Given the description of an element on the screen output the (x, y) to click on. 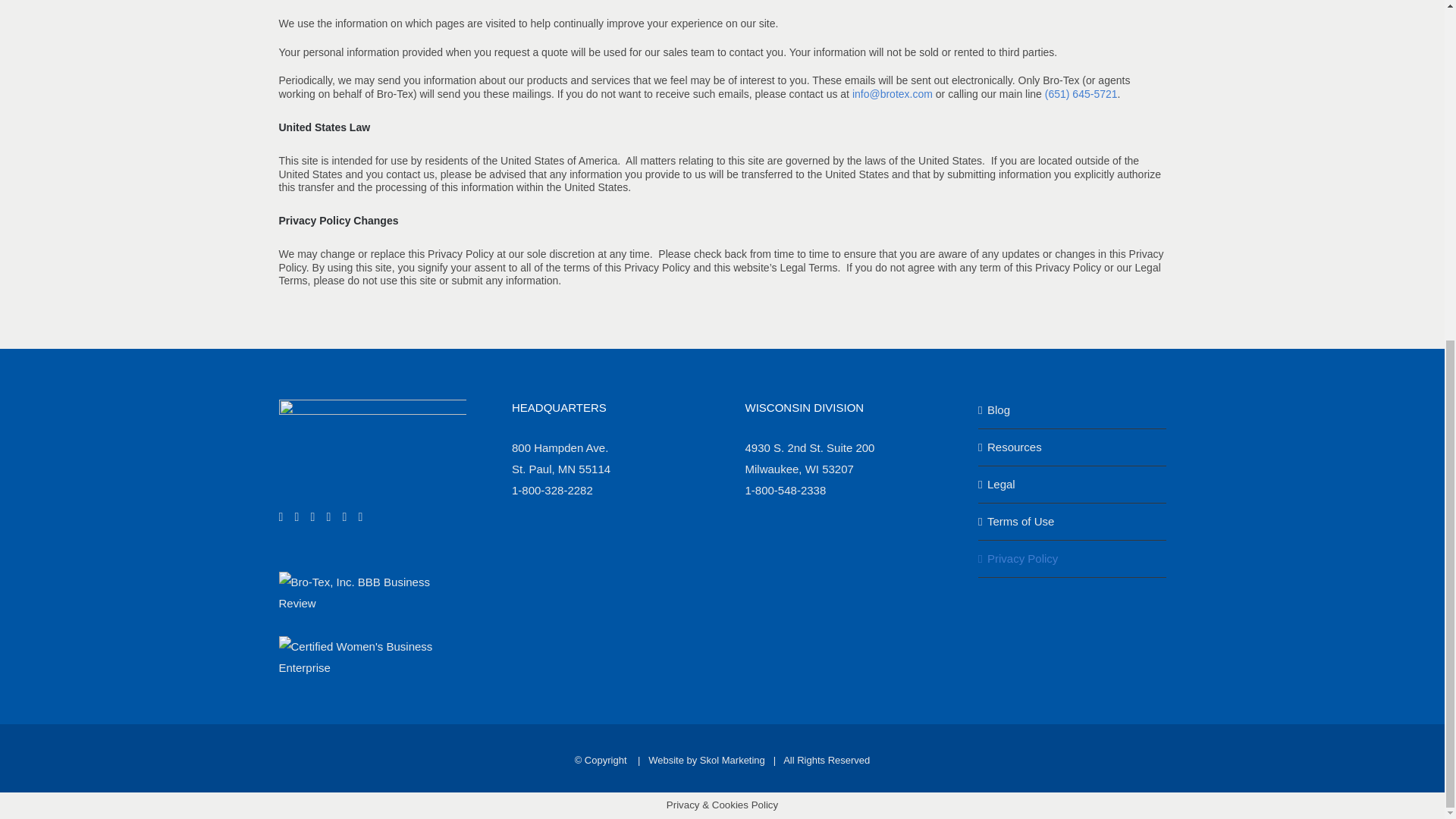
Facebook (281, 517)
Mail (360, 517)
YouTube (328, 517)
Twitter (297, 517)
LinkedIn (344, 517)
Instagram (313, 517)
